Given the description of an element on the screen output the (x, y) to click on. 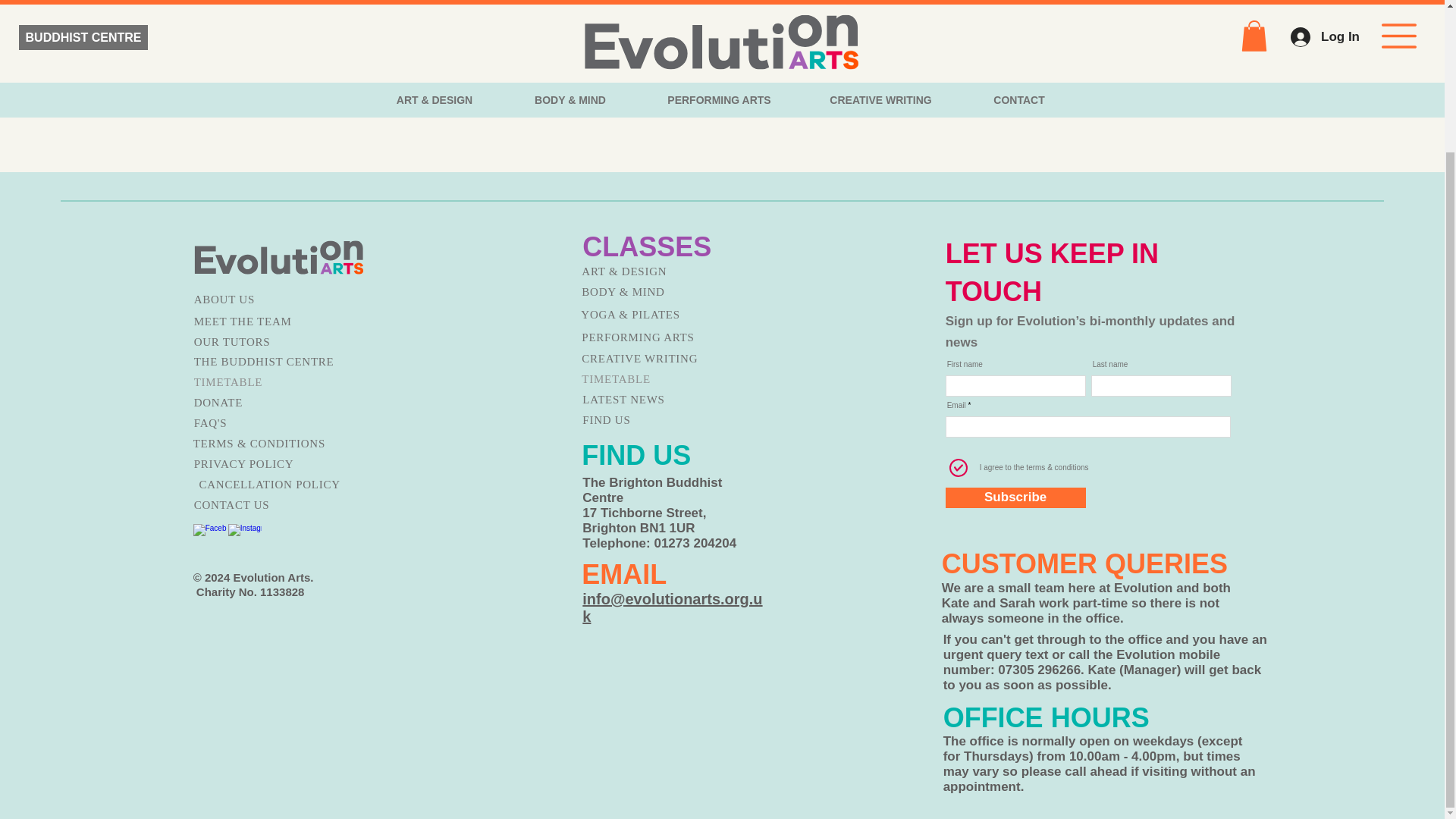
CANCELLATION POLICY (276, 485)
ABOUT US (271, 299)
TIMETABLE (659, 379)
CREATIVE WRITING (659, 358)
MEET THE TEAM (271, 322)
LATEST NEWS (660, 399)
FIND US (660, 420)
PERFORMING ARTS (659, 337)
TIMETABLE (271, 382)
OUR TUTORS (271, 342)
THE BUDDHIST CENTRE (271, 362)
Subscribe (1015, 497)
FAQ'S (271, 423)
DONATE (271, 403)
CONTACT US (271, 505)
